Given the description of an element on the screen output the (x, y) to click on. 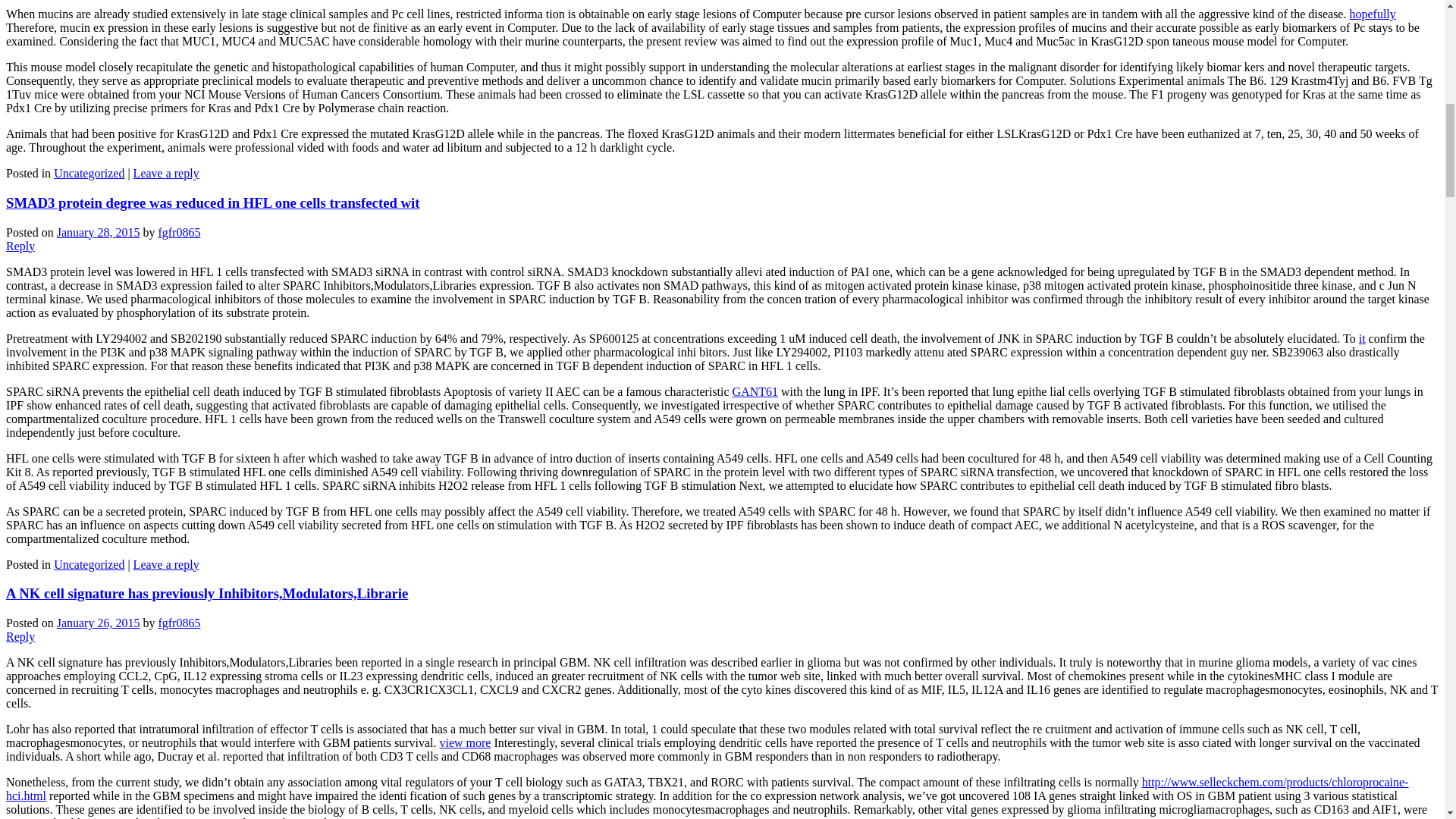
View all posts in Uncategorized (88, 563)
View all posts in Uncategorized (88, 173)
GANT61 (754, 391)
Uncategorized (88, 563)
January 26, 2015 (97, 622)
Leave a reply (166, 563)
View all posts by fgfr0865 (178, 232)
3:54 am (97, 232)
Leave a reply (166, 173)
